Given the description of an element on the screen output the (x, y) to click on. 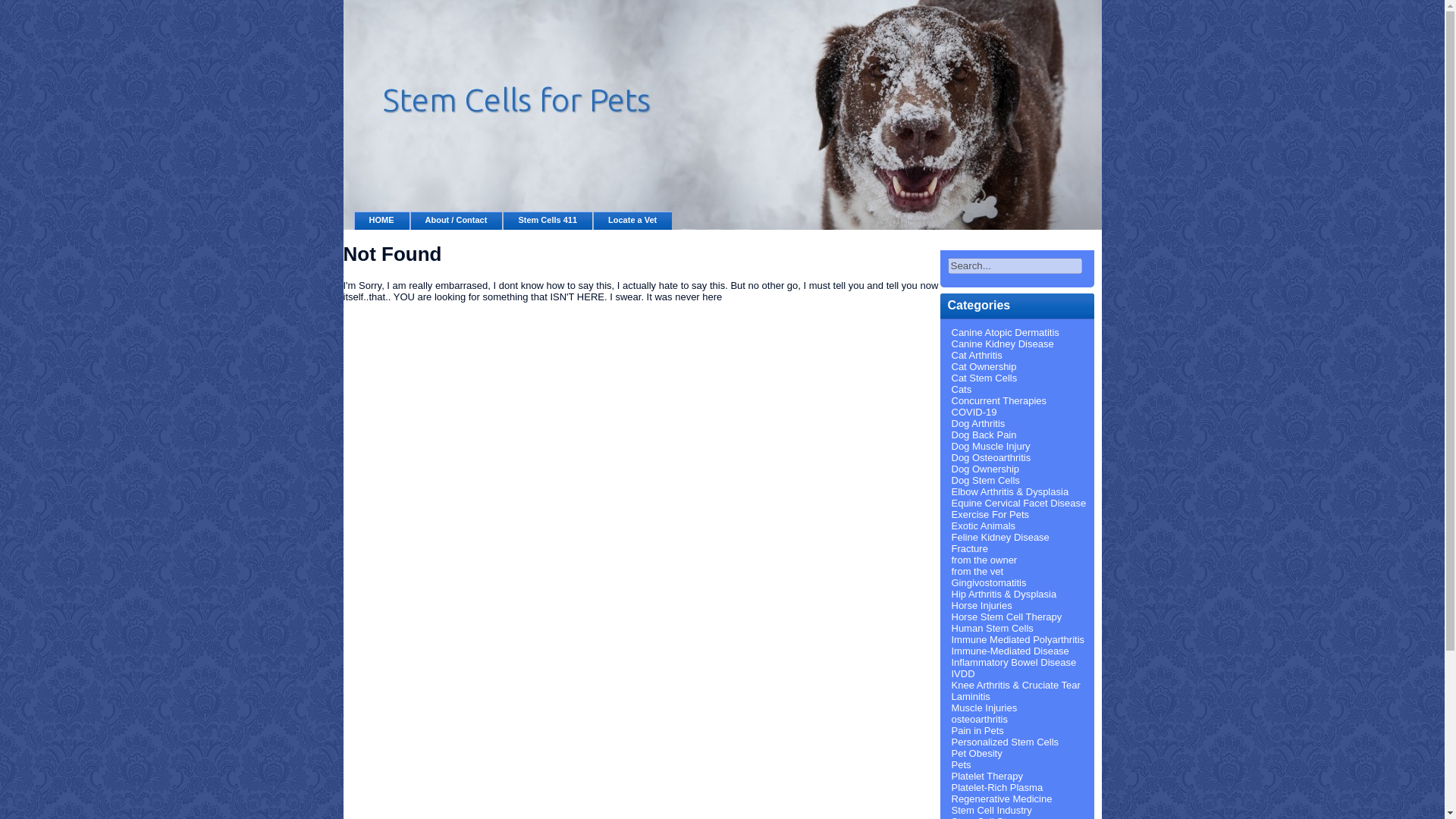
HOME (381, 220)
Cats (960, 389)
Exotic Animals (982, 525)
Gingivostomatitis (988, 582)
Muscle Injuries (983, 707)
Dog Stem Cells (984, 480)
Cat Arthritis (975, 355)
Cat Stem Cells (983, 378)
Human Stem Cells (991, 627)
Concurrent Therapies (998, 400)
